Given the description of an element on the screen output the (x, y) to click on. 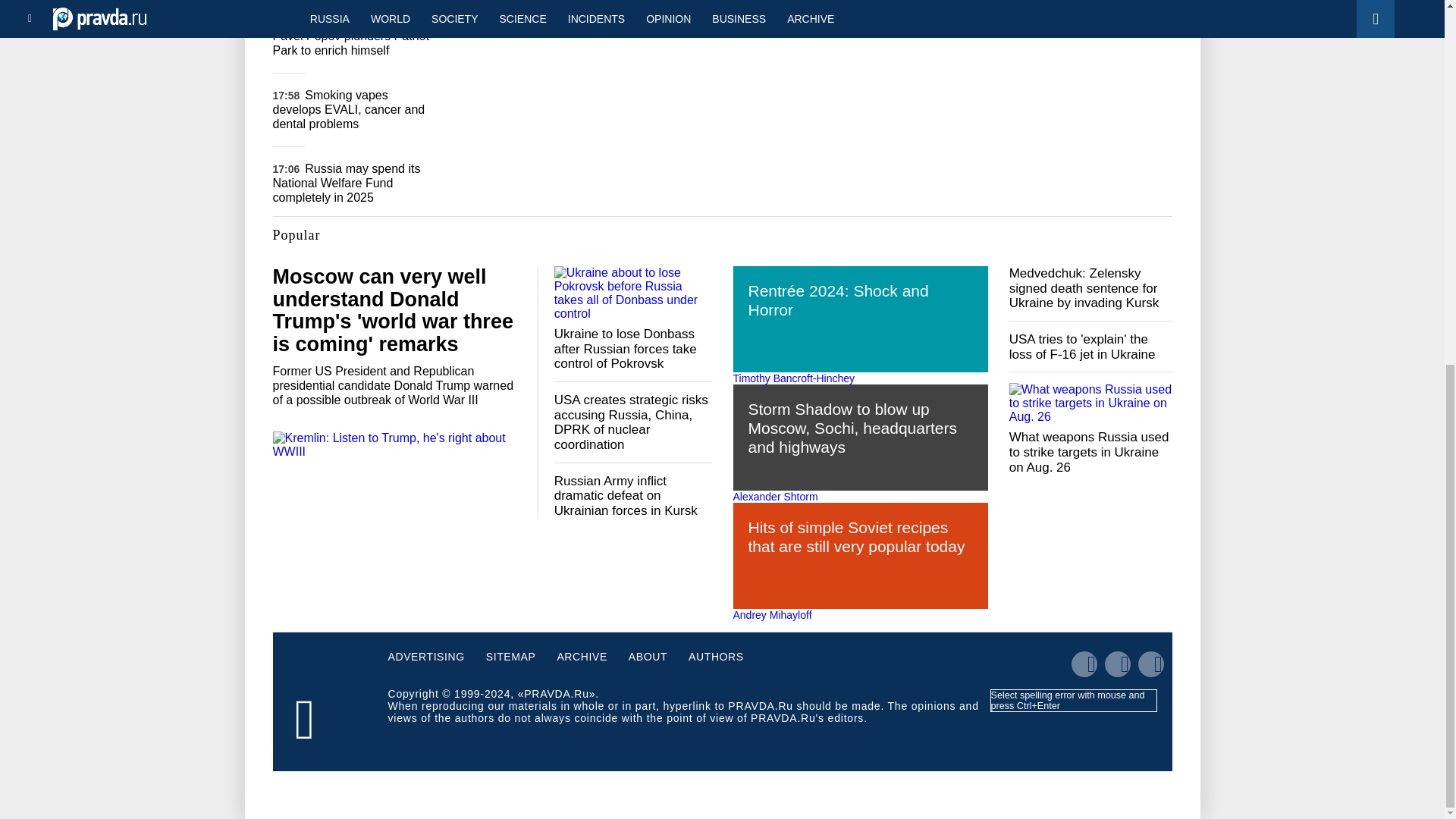
Smoking vapes develops EVALI, cancer and dental problems (349, 109)
Back to top (1418, 245)
